Given the description of an element on the screen output the (x, y) to click on. 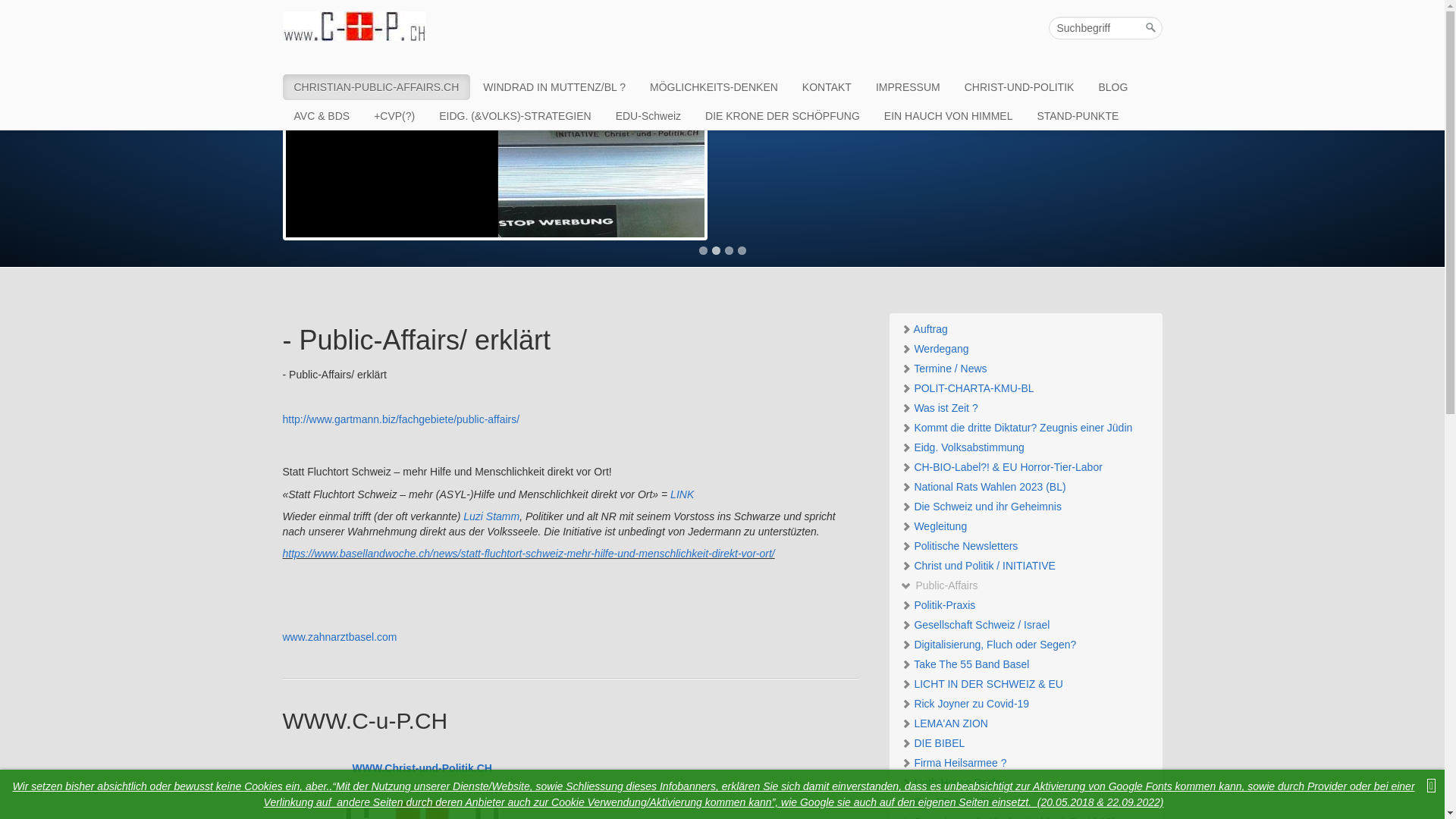
  Termine / News Element type: text (1024, 368)
Cookies Element type: text (263, 786)
www.zahnarztbasel.com Element type: text (339, 636)
  Die Schweiz und ihr Geheimnis Element type: text (1024, 506)
  Der 5 Punkte Plan Element type: text (1024, 802)
CHRIST-UND-POLITIK Element type: text (1019, 87)
LINK Element type: text (681, 494)
  Politische Newsletters Element type: text (1024, 545)
  Wegleitung Element type: text (1024, 526)
EDU-Schweiz Element type: text (648, 115)
3 Element type: text (728, 250)
WWW.Christ-und-Politik.CH Element type: text (422, 768)
STAND-PUNKTE Element type: text (1077, 115)
+CVP(?) Element type: text (394, 115)
Luzi Stamm Element type: text (491, 516)
  CH-BIO-Label?! & EU Horror-Tier-Labor Element type: text (1024, 466)
  LEMA'AN ZION Element type: text (1024, 723)
  Politik-Praxis Element type: text (1024, 605)
4 Element type: text (741, 250)
  POLIT-CHARTA-KMU-BL Element type: text (1024, 388)
  Was ist Zeit ? Element type: text (1024, 407)
  Christ und Politik / INITIATIVE Element type: text (1024, 565)
AVC & BDS Element type: text (321, 115)
  Eidg. Volksabstimmung Element type: text (1024, 447)
CHRISTIAN-PUBLIC-AFFAIRS.CH Element type: text (376, 87)
  LICHT IN DER SCHWEIZ & EU Element type: text (1024, 683)
WINDRAD IN MUTTENZ/BL ? Element type: text (554, 87)
KONTAKT Element type: text (826, 87)
  DIE BIBEL Element type: text (1024, 743)
  Auftrag Element type: text (1024, 328)
1 Element type: text (703, 250)
  Rick Joyner zu Covid-19 Element type: text (1024, 703)
  Gesellschaft Schweiz / Israel Element type: text (1024, 624)
http://www.gartmann.biz/fachgebiete/public-affairs/ Element type: text (400, 419)
  Take The 55 Band Basel Element type: text (1024, 664)
  National Rats Wahlen 2023 (BL) Element type: text (1024, 486)
IMPRESSUM Element type: text (907, 87)
  Ligth-House.Rocks Element type: text (1024, 782)
  Firma Heilsarmee ? Element type: text (1024, 762)
Next Element type: text (1177, 163)
  Werdegang Element type: text (1024, 348)
EIDG. (&VOLKS)-STRATEGIEN Element type: text (514, 115)
EIN HAUCH VON HIMMEL Element type: text (948, 115)
BLOG Element type: text (1112, 87)
  Public-Affairs Element type: text (1024, 585)
Previous Element type: text (265, 163)
  Digitalisierung, Fluch oder Segen? Element type: text (1024, 644)
2 Element type: text (715, 250)
